Given the description of an element on the screen output the (x, y) to click on. 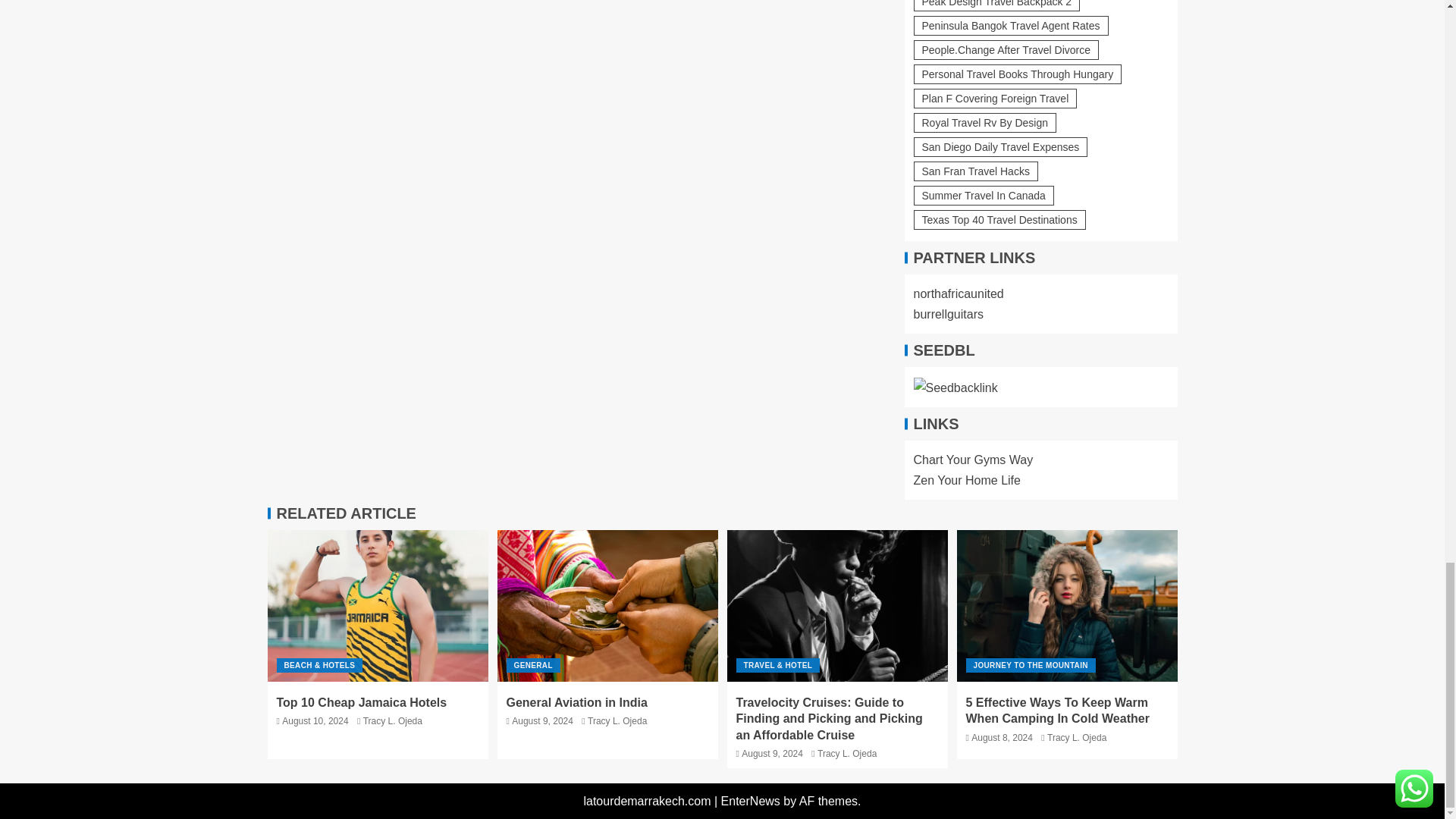
Seedbacklink (954, 387)
General Aviation in India (607, 605)
Top 10 Cheap Jamaica Hotels (376, 605)
